Given the description of an element on the screen output the (x, y) to click on. 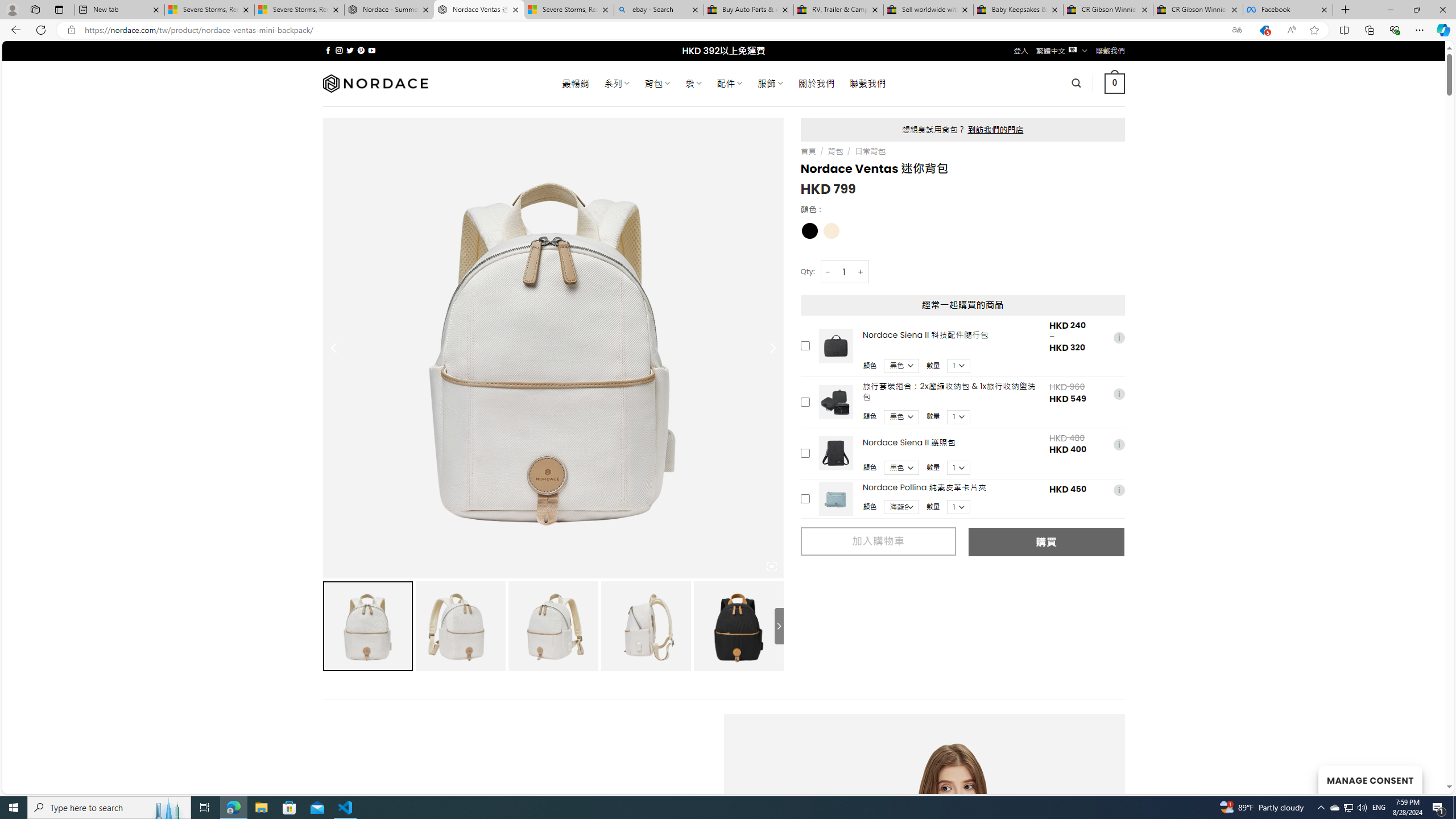
This site has coupons! Shopping in Microsoft Edge, 5 (1263, 29)
App bar (728, 29)
